Given the description of an element on the screen output the (x, y) to click on. 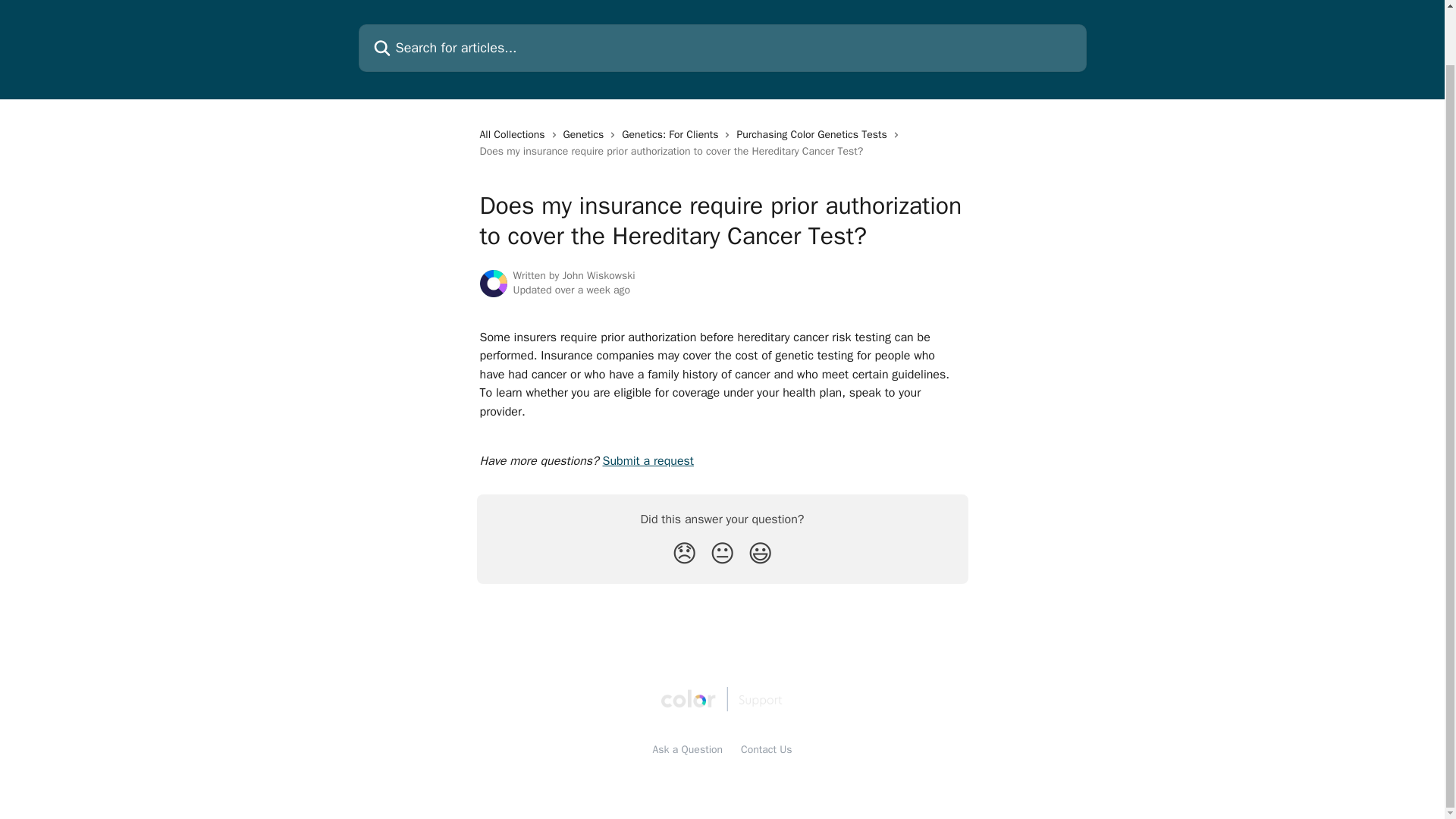
Genetics (586, 134)
Purchasing Color Genetics Tests (814, 134)
Contact Us (766, 748)
Genetics: For Clients (672, 134)
All Collections (514, 134)
Submit a request (647, 460)
Ask a Question (687, 748)
